Given the description of an element on the screen output the (x, y) to click on. 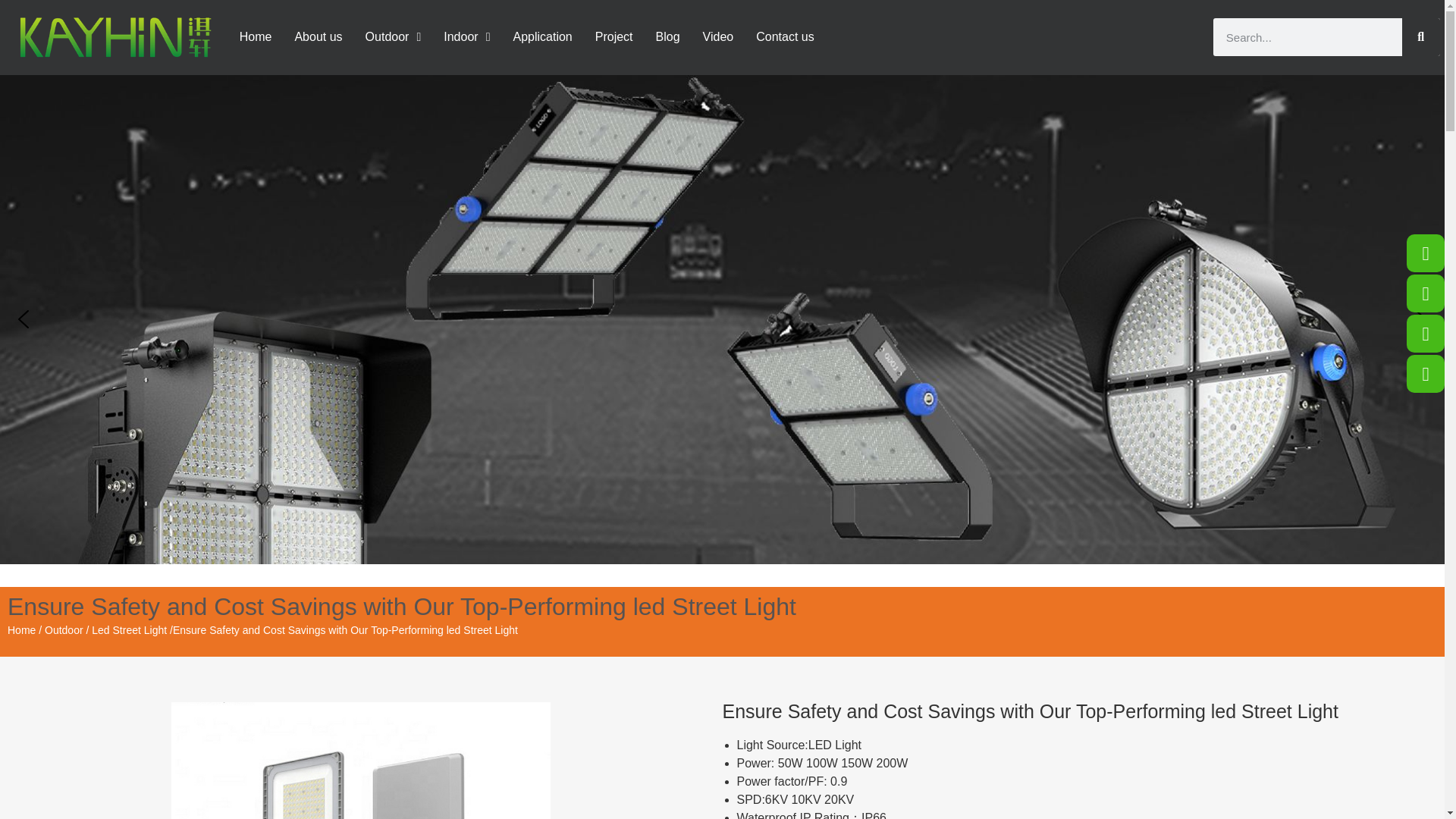
Application (542, 36)
Blog (667, 36)
Indoor (466, 36)
About us (317, 36)
Project (614, 36)
Outdoor (393, 36)
Video (718, 36)
Home (255, 36)
Contact us (784, 36)
